Given the description of an element on the screen output the (x, y) to click on. 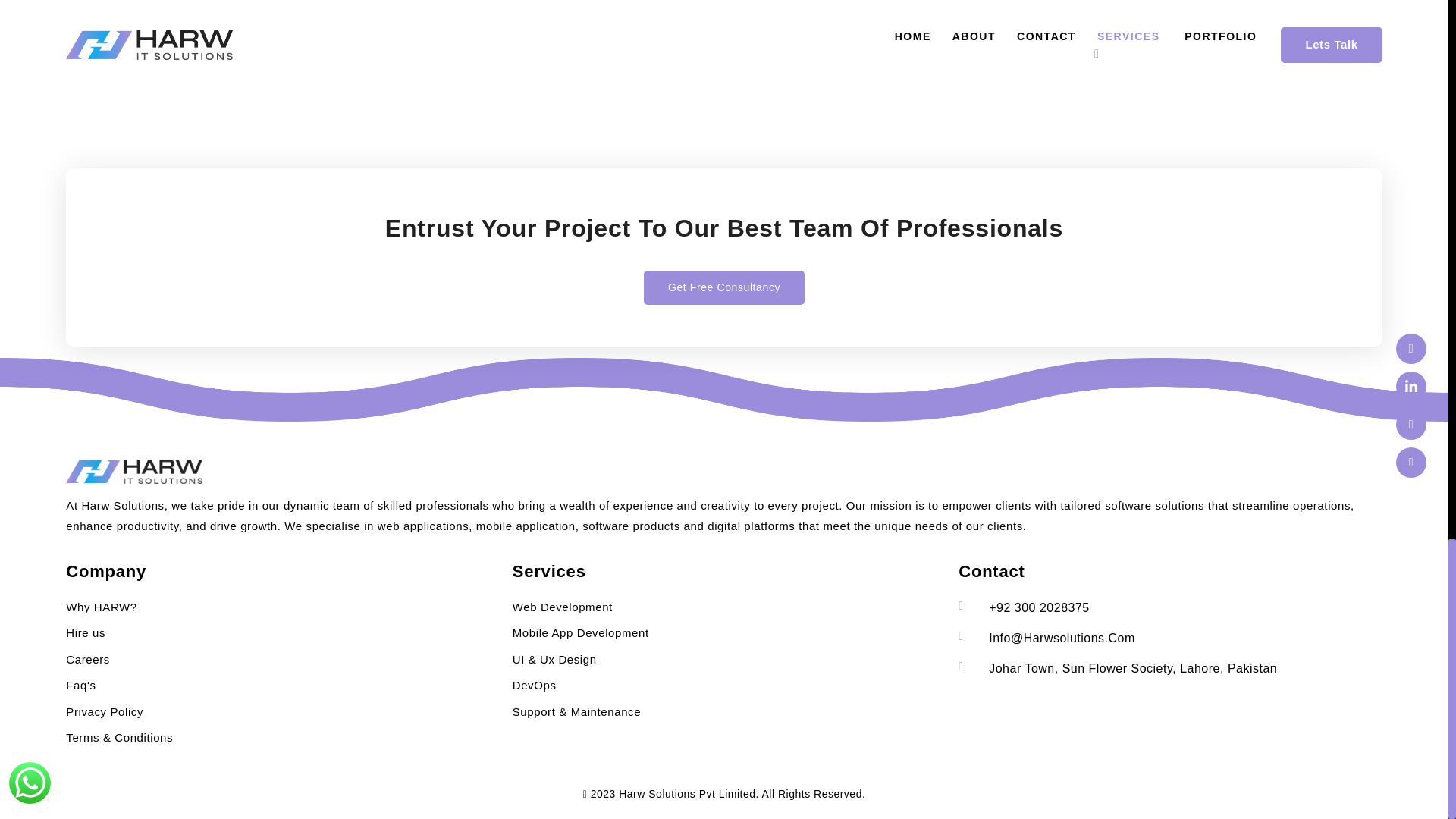
Privacy Policy (103, 711)
Web Development (562, 606)
Careers (87, 658)
DevOps (534, 684)
Get Free Consultancy (724, 349)
Mobile App Development (580, 632)
Hire us (84, 632)
Faq's (80, 684)
Why HARW? (100, 606)
